Given the description of an element on the screen output the (x, y) to click on. 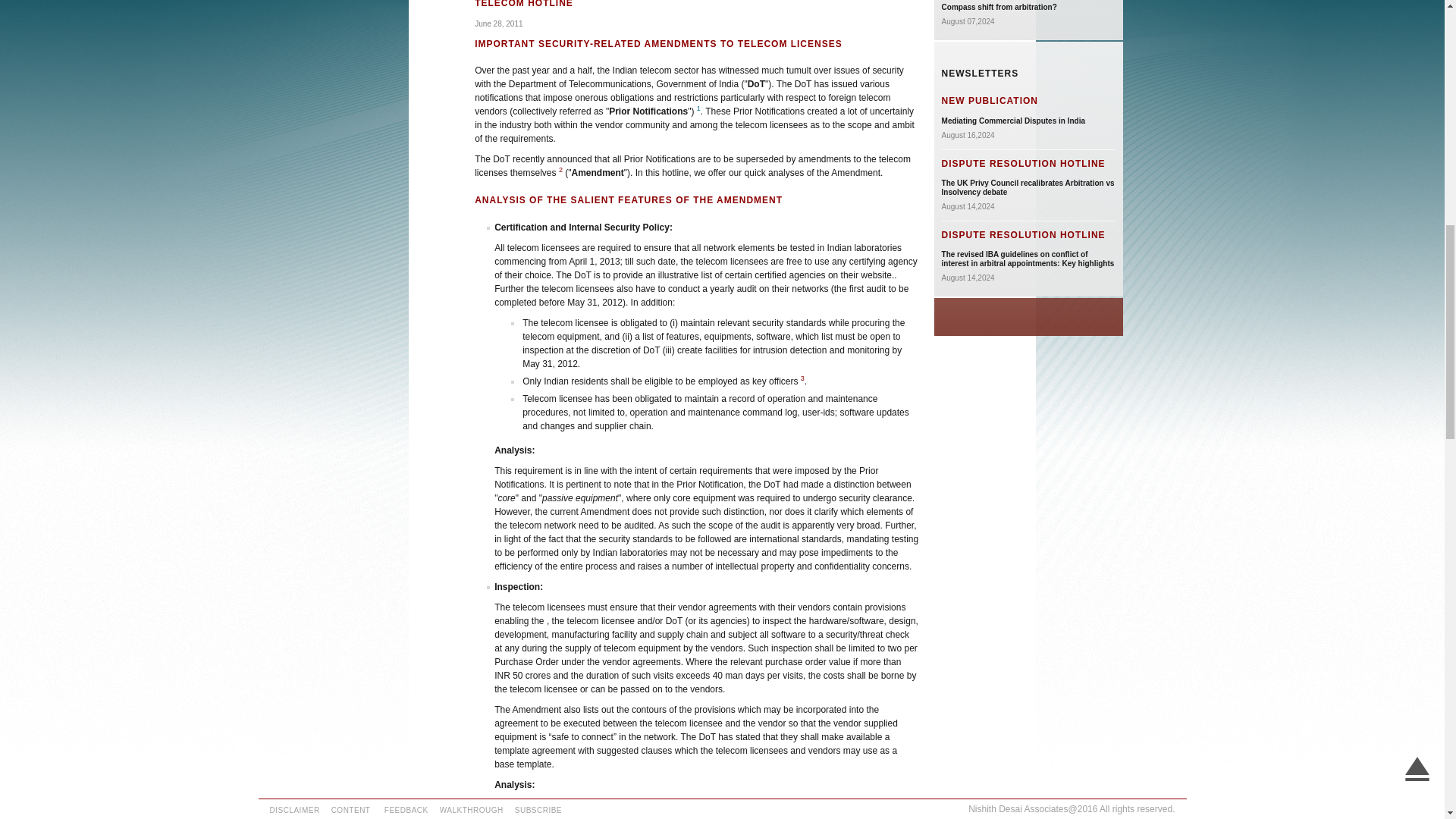
Compass shift from arbitration? (999, 7)
Mediating Commercial Disputes in India (1013, 121)
